Given the description of an element on the screen output the (x, y) to click on. 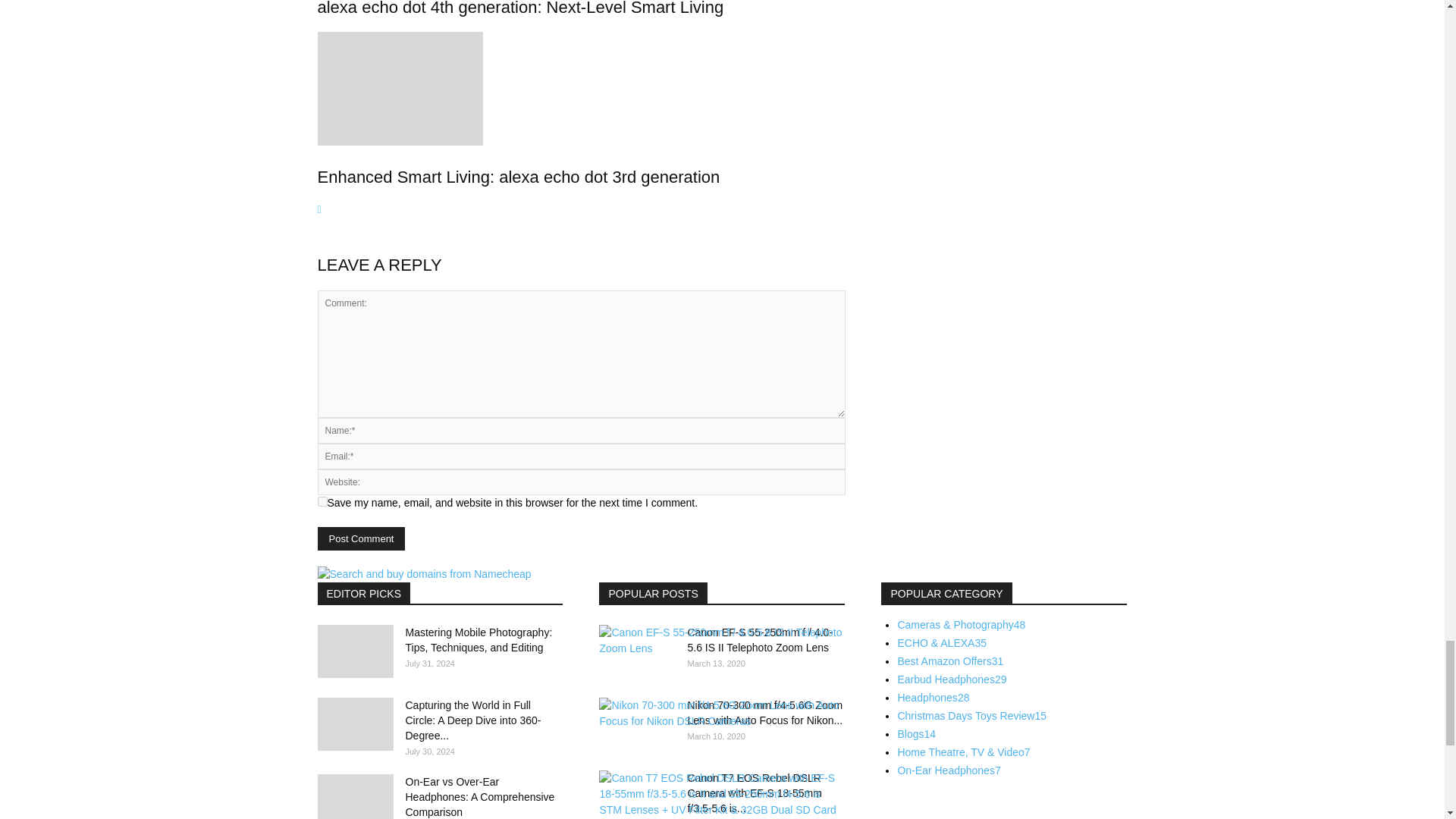
yes (321, 501)
Post Comment (360, 538)
